Given the description of an element on the screen output the (x, y) to click on. 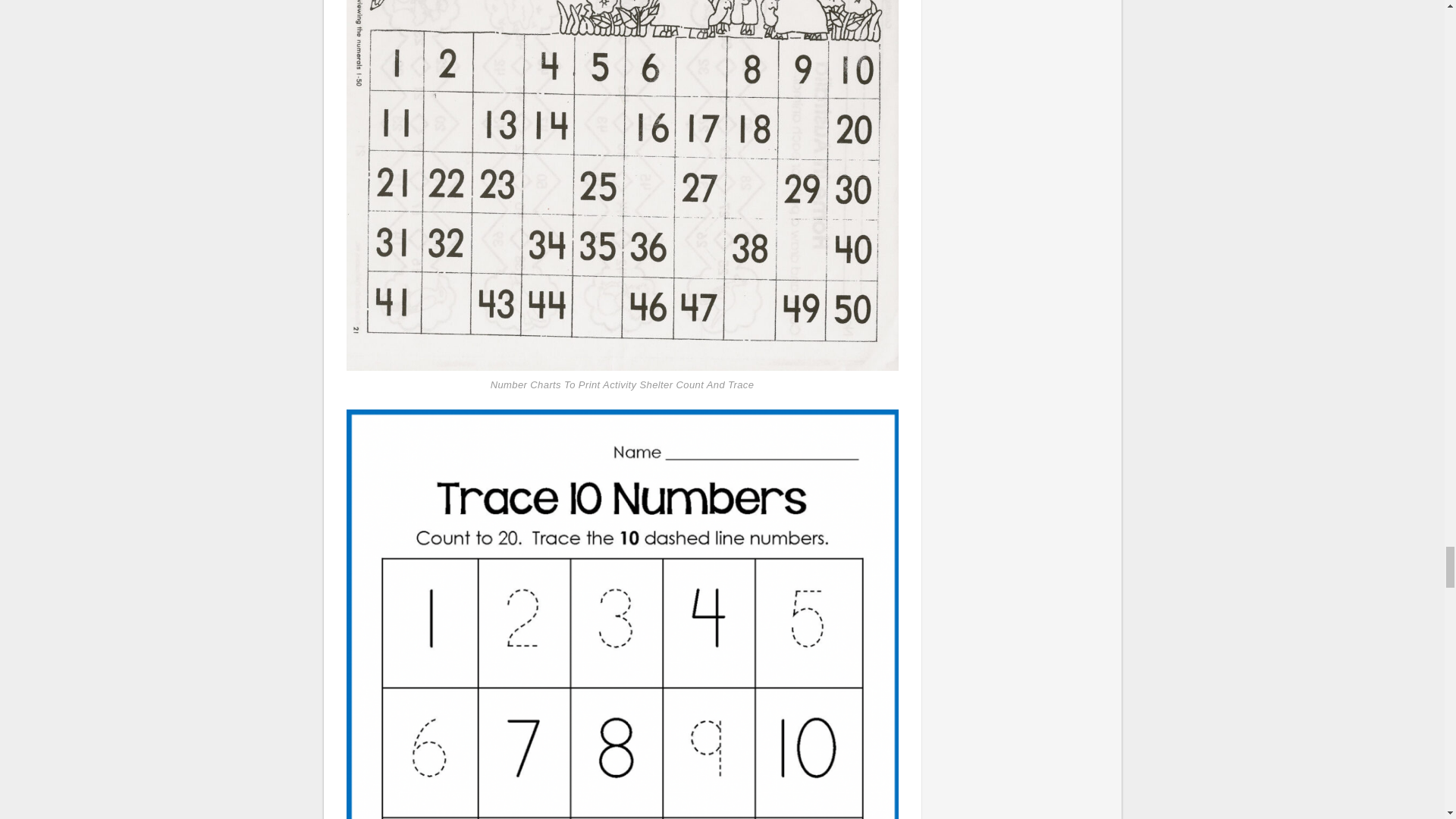
Number Charts To Print Activity Shelter Count And Trace (622, 157)
